Given the description of an element on the screen output the (x, y) to click on. 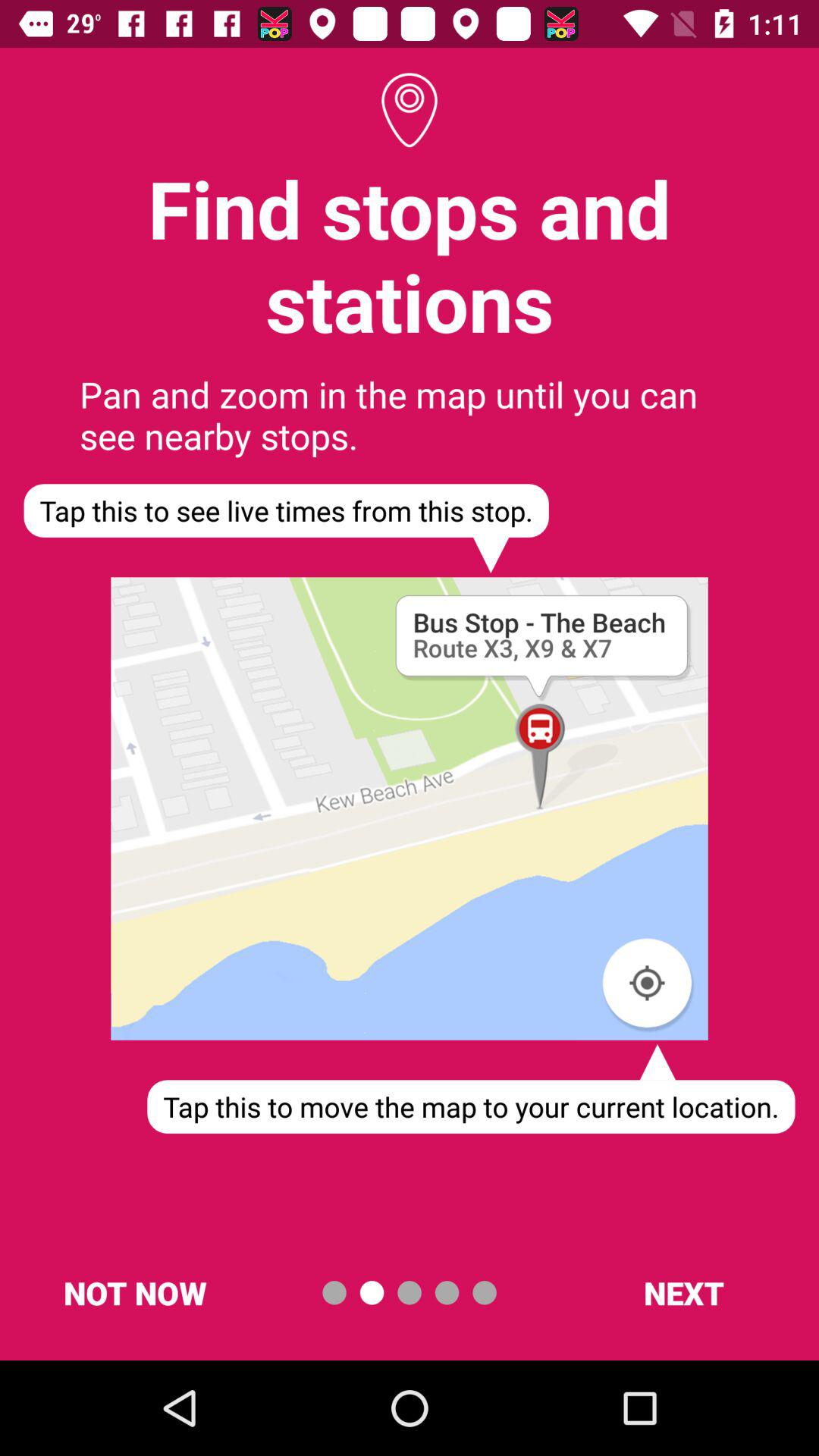
click the button next on the web page (683, 1292)
select the first button right to not now (334, 1292)
select the button at bottom left corner of the page (134, 1292)
click on the image (409, 808)
select the 2nd option on the right next to the text not now on the web page (372, 1292)
